Given the description of an element on the screen output the (x, y) to click on. 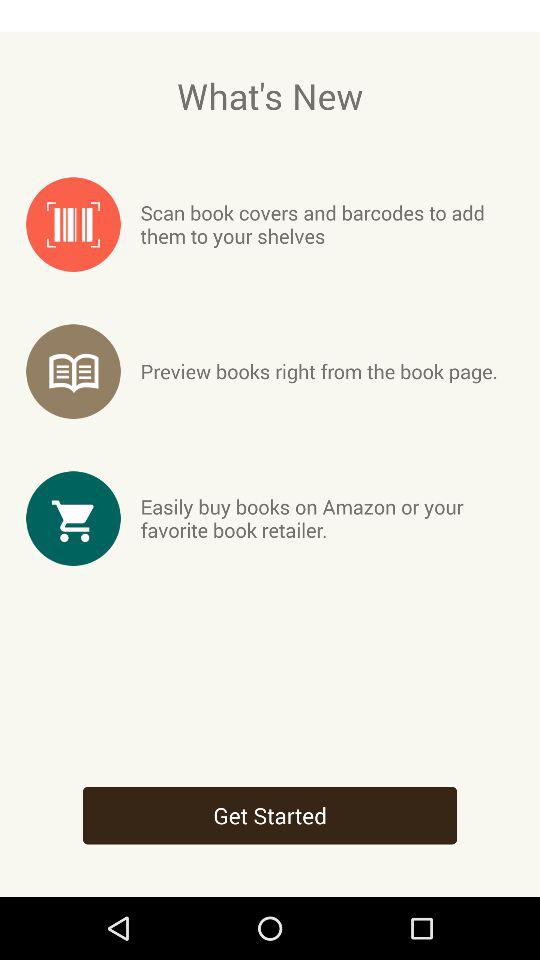
scroll until the scan book covers icon (326, 224)
